Given the description of an element on the screen output the (x, y) to click on. 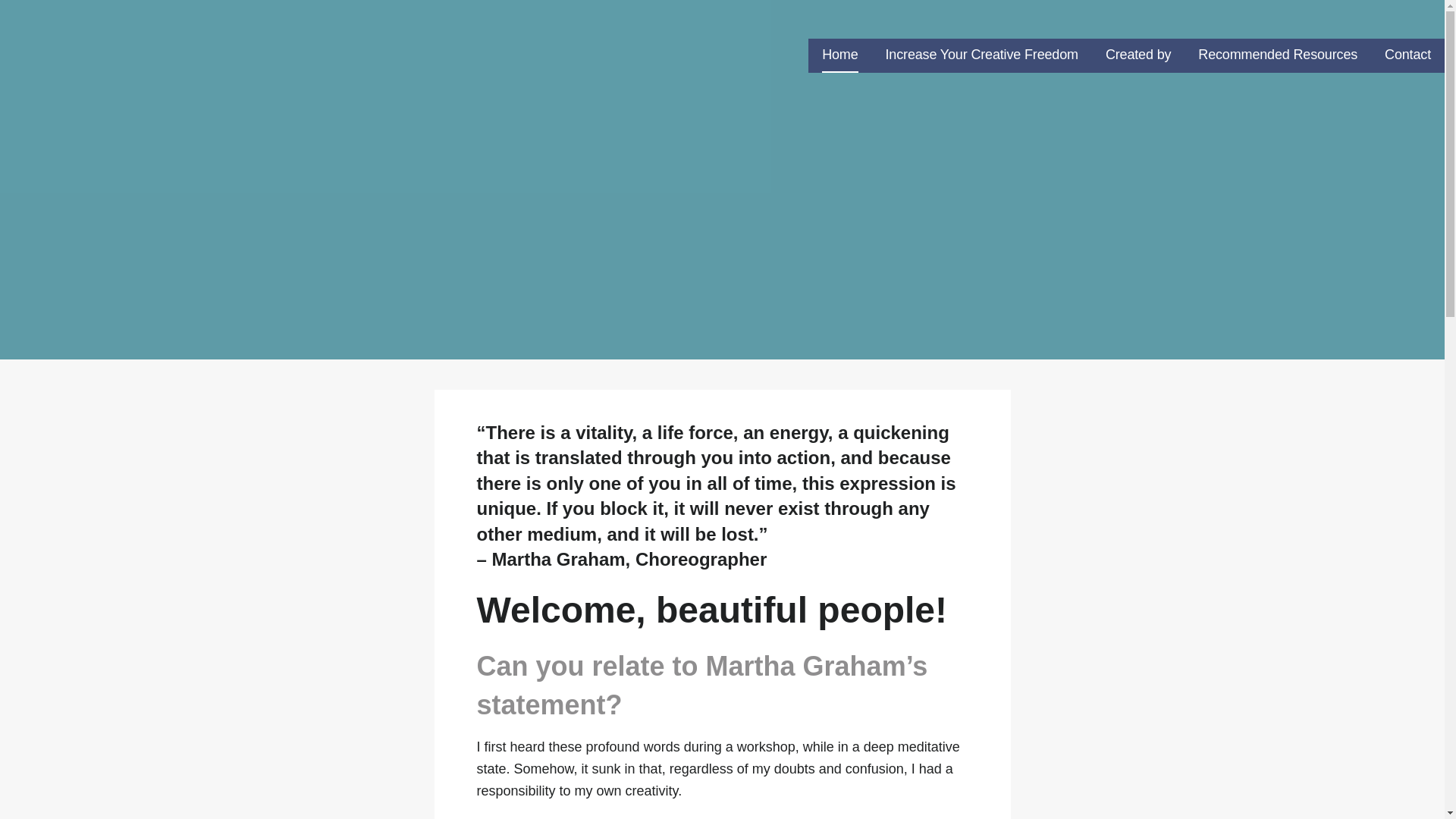
Increase Your Creative Freedom (981, 55)
Created by (1137, 55)
Home (839, 55)
Contact (1407, 55)
Creative Freedom (100, 48)
Recommended Resources (1277, 55)
